Given the description of an element on the screen output the (x, y) to click on. 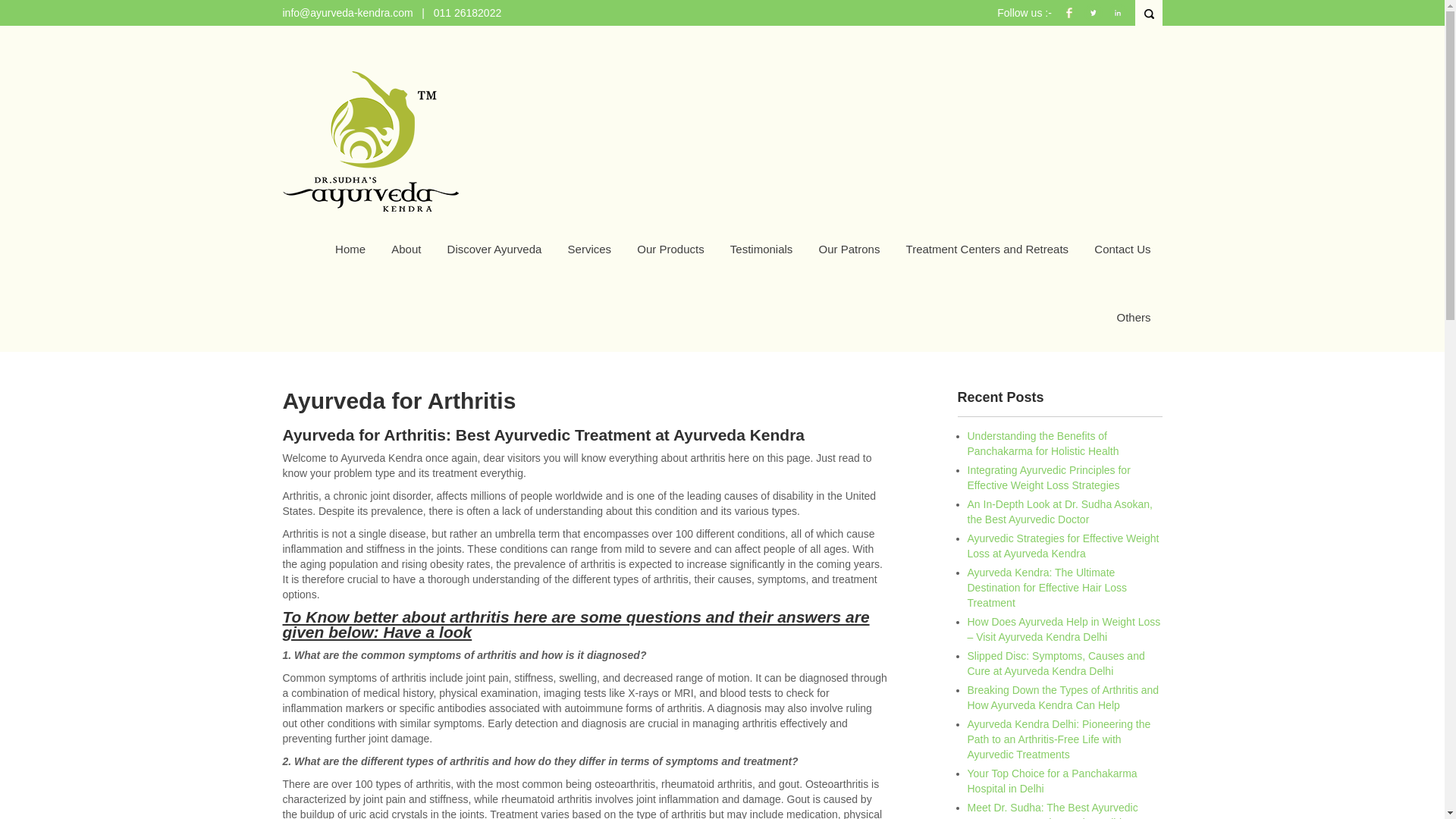
Discover Ayurveda (494, 249)
Facebook (1069, 19)
Twitter (1093, 19)
Services (589, 249)
Linkedin (1117, 19)
